Given the description of an element on the screen output the (x, y) to click on. 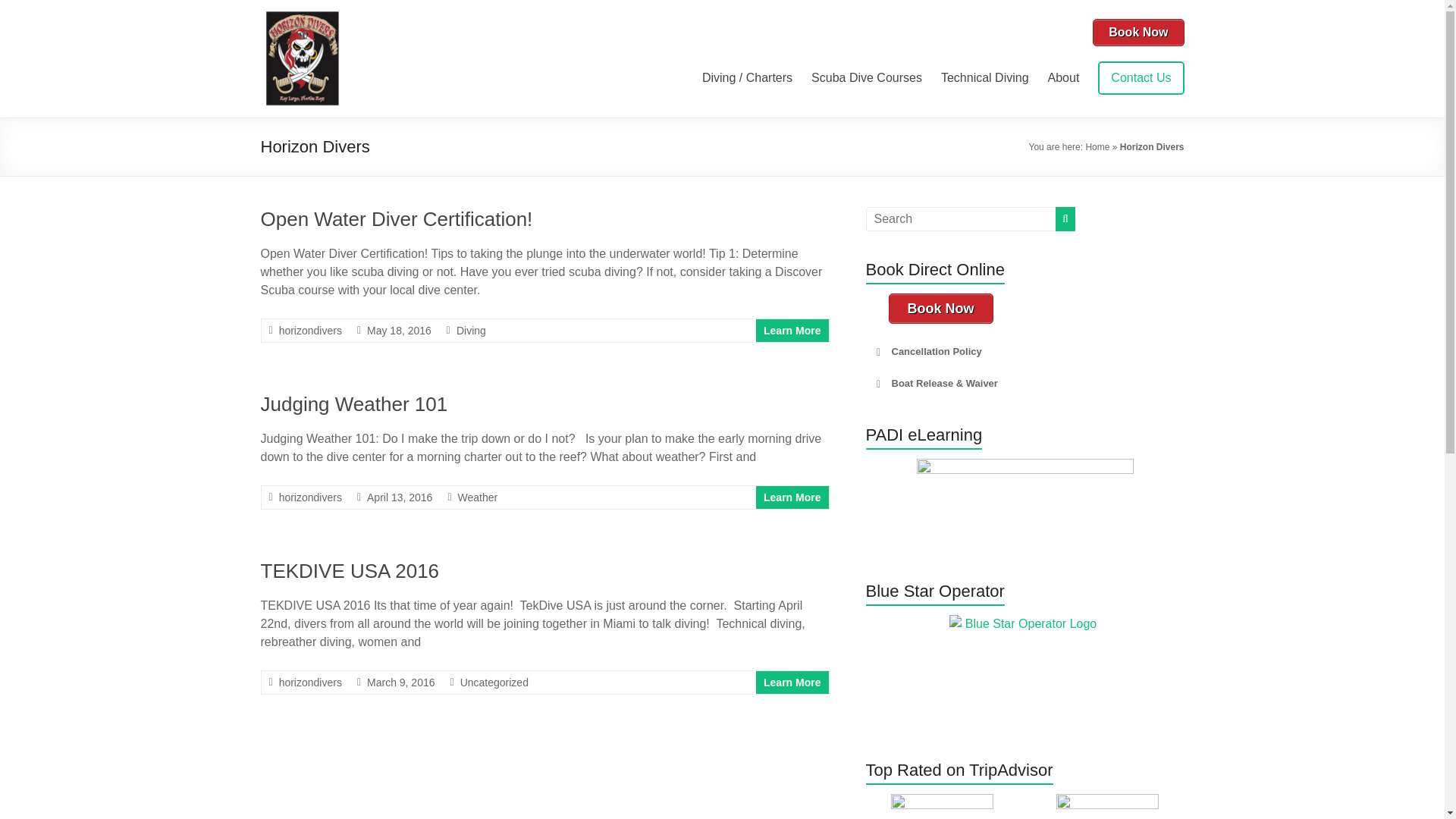
4:22 pm (400, 682)
Open Water Diver Certification! (396, 219)
Scuba Dive Courses (865, 77)
10:54 am (399, 497)
Book Now (1138, 31)
12:56 pm (398, 330)
TEKDIVE USA 2016 (349, 570)
About (1064, 77)
Technical Diving (984, 77)
Judging Weather 101 (354, 404)
